Given the description of an element on the screen output the (x, y) to click on. 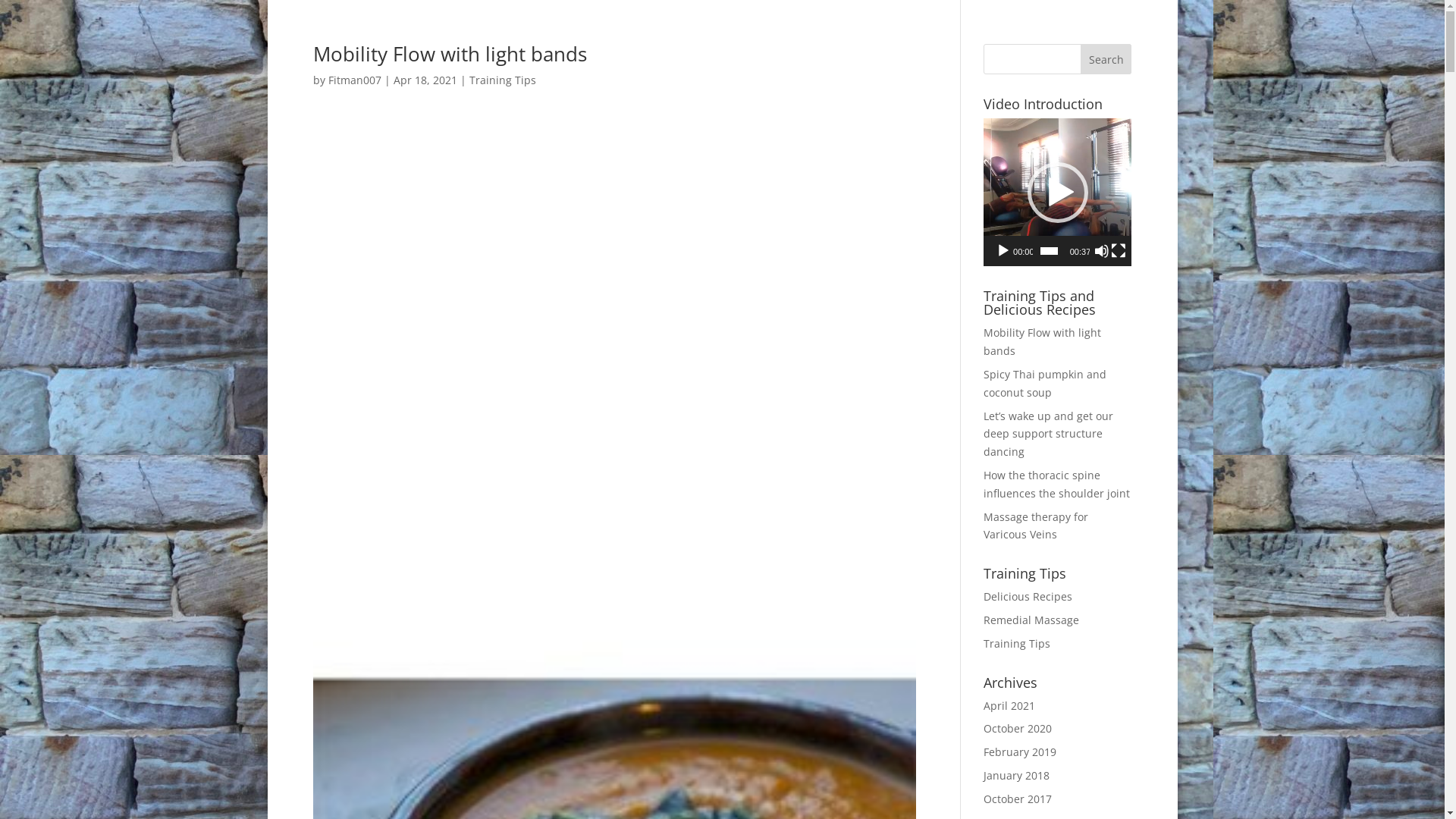
Mobility Flow with light bands Element type: text (449, 53)
Fitman007 Element type: text (353, 79)
Training Tips Element type: text (501, 79)
Fullscreen Element type: hover (1118, 250)
October 2020 Element type: text (1017, 728)
Mobility flow using light bands Element type: hover (613, 331)
February 2019 Element type: text (1019, 751)
Massage therapy for Varicous Veins Element type: text (1035, 525)
How the thoracic spine influences the shoulder joint Element type: text (1056, 483)
Remedial Massage Element type: text (1031, 619)
Mobility Flow with light bands Element type: text (1042, 341)
January 2018 Element type: text (1016, 775)
Training Tips Element type: text (1016, 643)
Mute Element type: hover (1101, 250)
October 2017 Element type: text (1017, 798)
Delicious Recipes Element type: text (1027, 596)
Search Element type: text (1106, 58)
Spicy Thai pumpkin and coconut soup Element type: text (1044, 383)
April 2021 Element type: text (1009, 705)
Play Element type: hover (1002, 250)
